Given the description of an element on the screen output the (x, y) to click on. 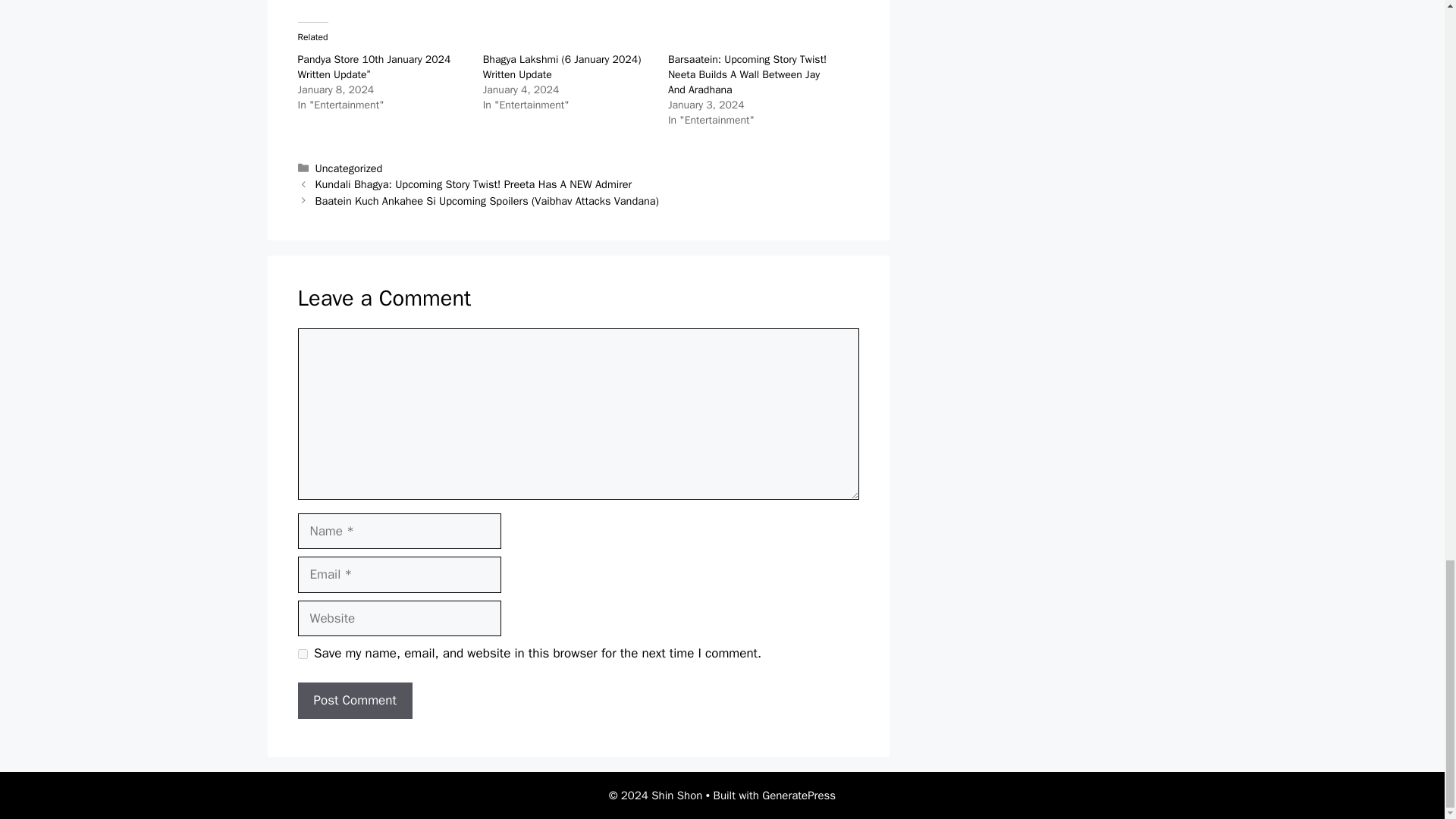
Post Comment (354, 700)
Post Comment (354, 700)
yes (302, 654)
GeneratePress (798, 795)
Uncategorized (348, 168)
